Given the description of an element on the screen output the (x, y) to click on. 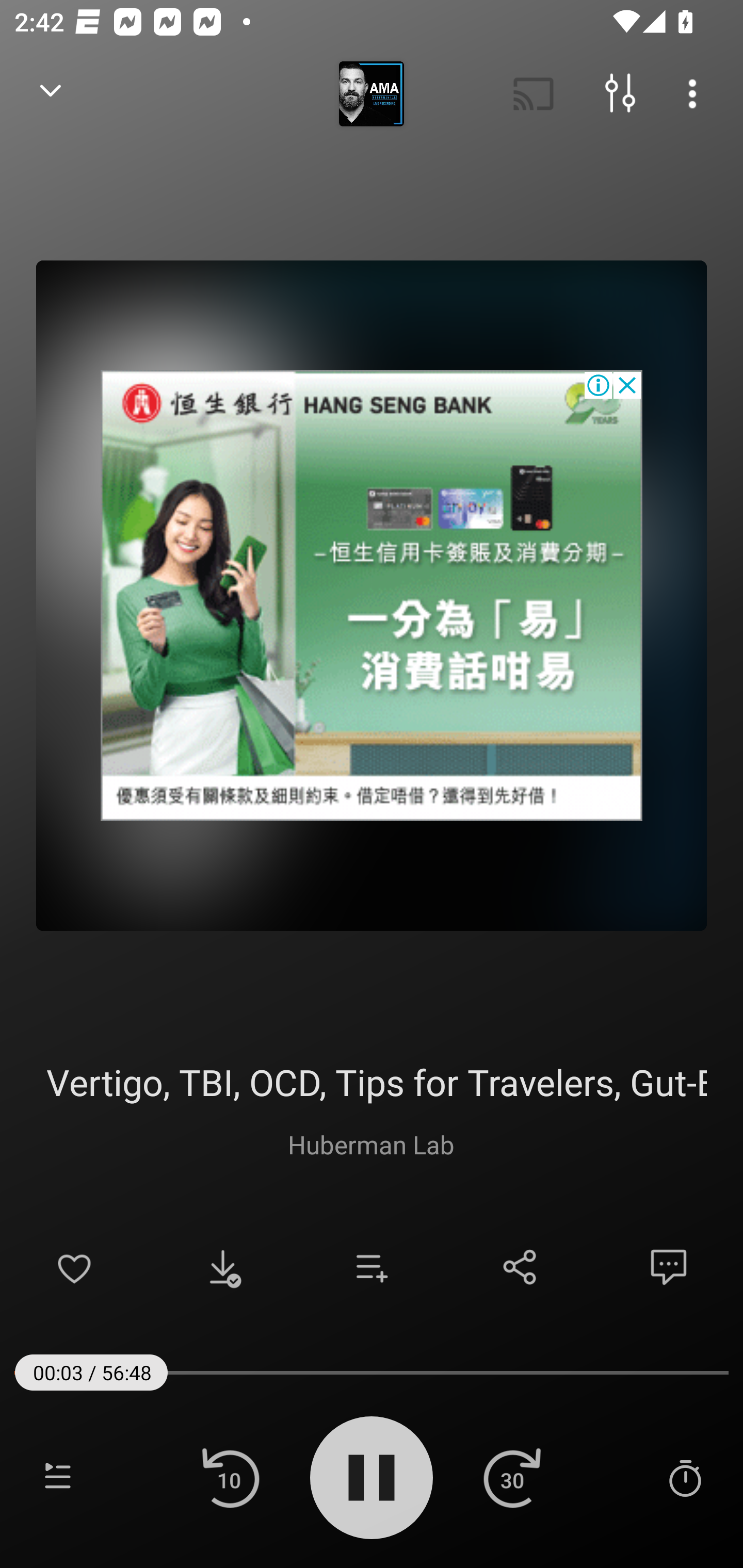
Cast. Disconnected (533, 93)
 Back (50, 94)
Advertisement (371, 595)
Huberman Lab (370, 1144)
Comments (668, 1266)
Add to Favorites (73, 1266)
Add to playlist (371, 1266)
Share (519, 1266)
 Playlist (57, 1477)
Sleep Timer  (684, 1477)
